Given the description of an element on the screen output the (x, y) to click on. 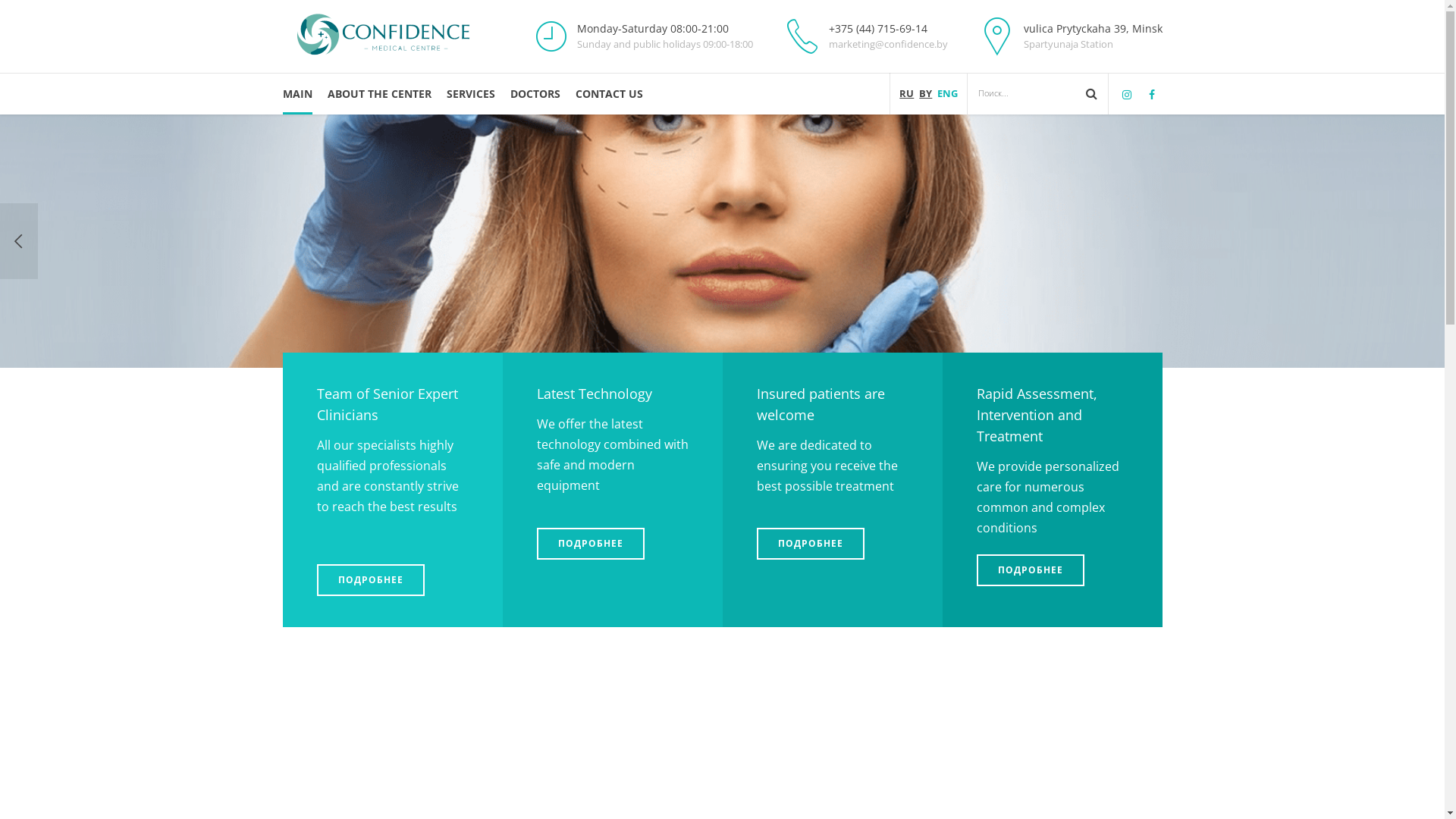
BY Element type: text (925, 93)
SERVICES Element type: text (469, 93)
CONTACT US Element type: text (608, 93)
DOCTORS Element type: text (534, 93)
ABOUT THE CENTER Element type: text (379, 93)
RU Element type: text (906, 93)
MAIN Element type: text (296, 93)
